Given the description of an element on the screen output the (x, y) to click on. 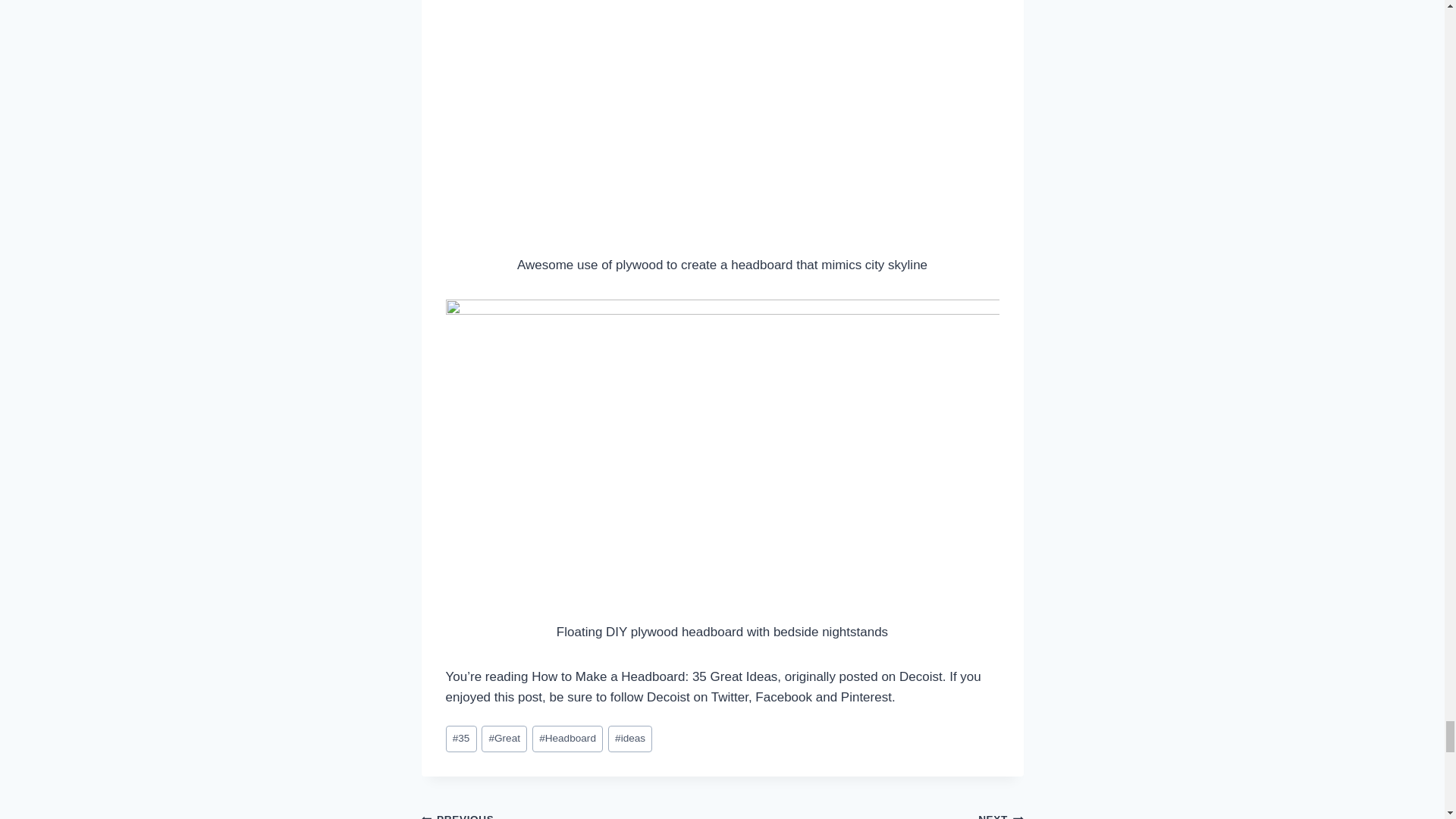
Great (504, 738)
Headboard (567, 738)
ideas (572, 813)
35 (630, 738)
